Given the description of an element on the screen output the (x, y) to click on. 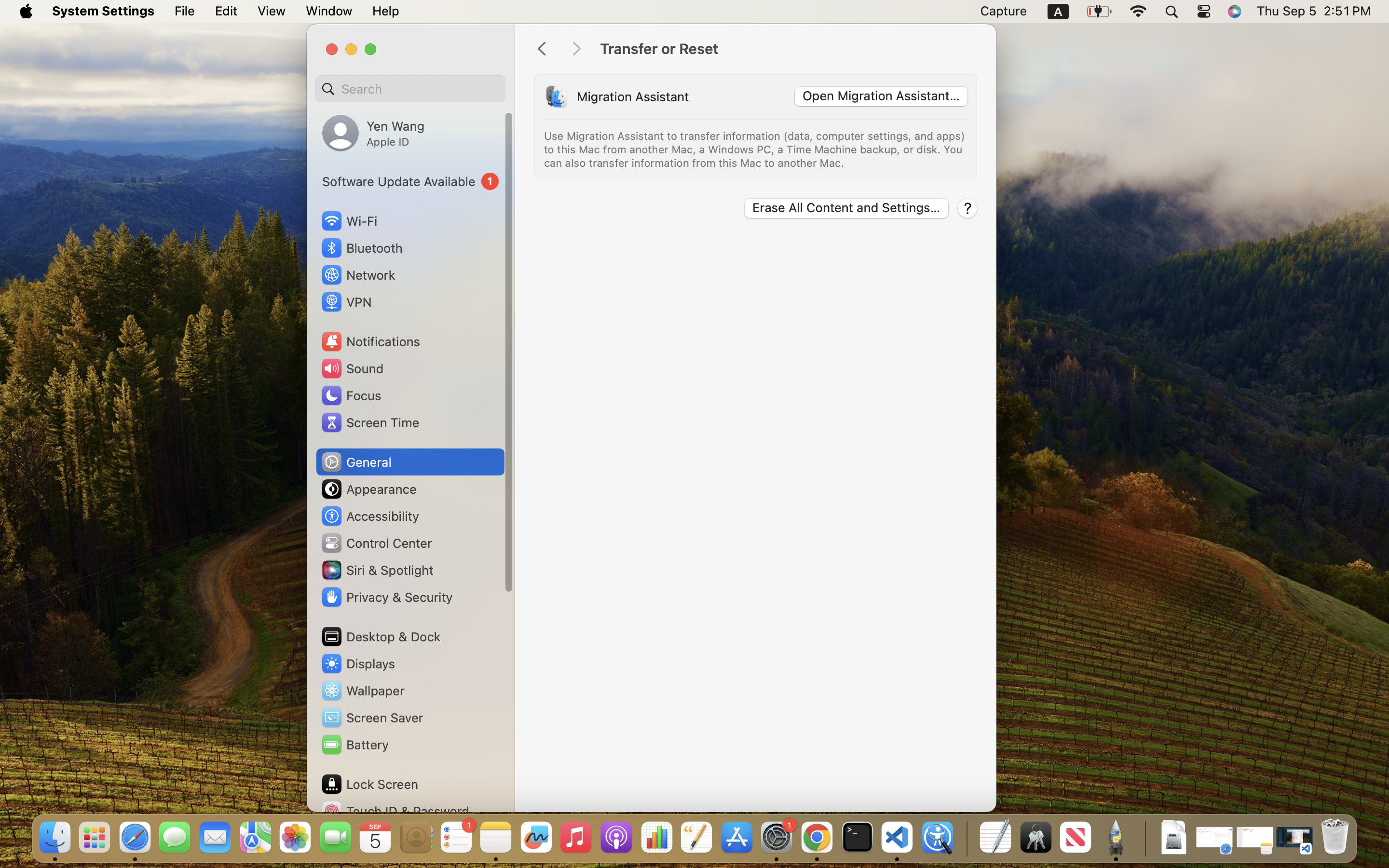
Displays Element type: AXStaticText (357, 663)
Notifications Element type: AXStaticText (370, 340)
